Given the description of an element on the screen output the (x, y) to click on. 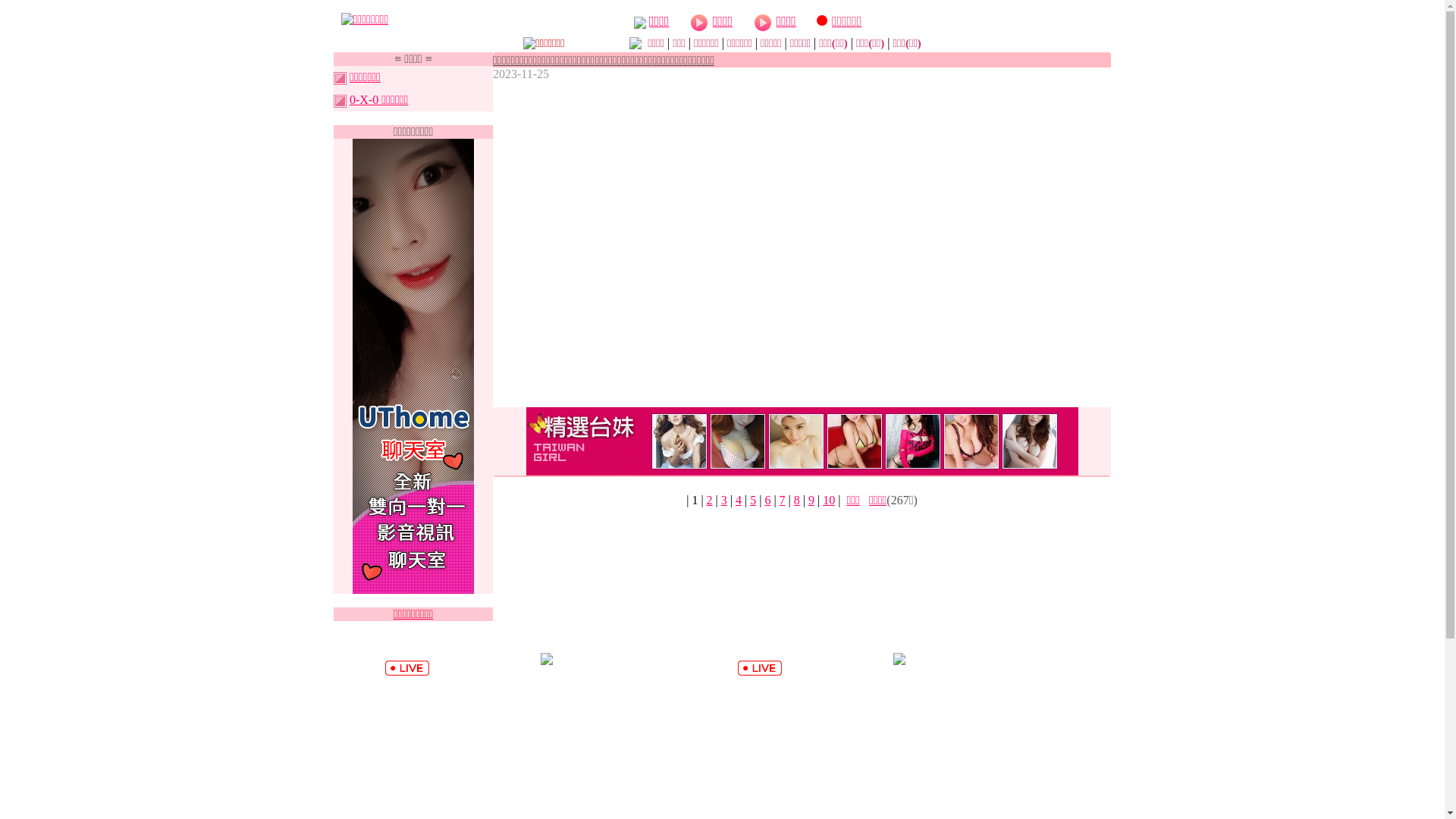
7 Element type: text (782, 499)
9 Element type: text (811, 499)
6 Element type: text (767, 499)
10 Element type: text (828, 499)
4 Element type: text (738, 499)
3 Element type: text (724, 499)
2 Element type: text (709, 499)
8 Element type: text (796, 499)
5 Element type: text (752, 499)
